Given the description of an element on the screen output the (x, y) to click on. 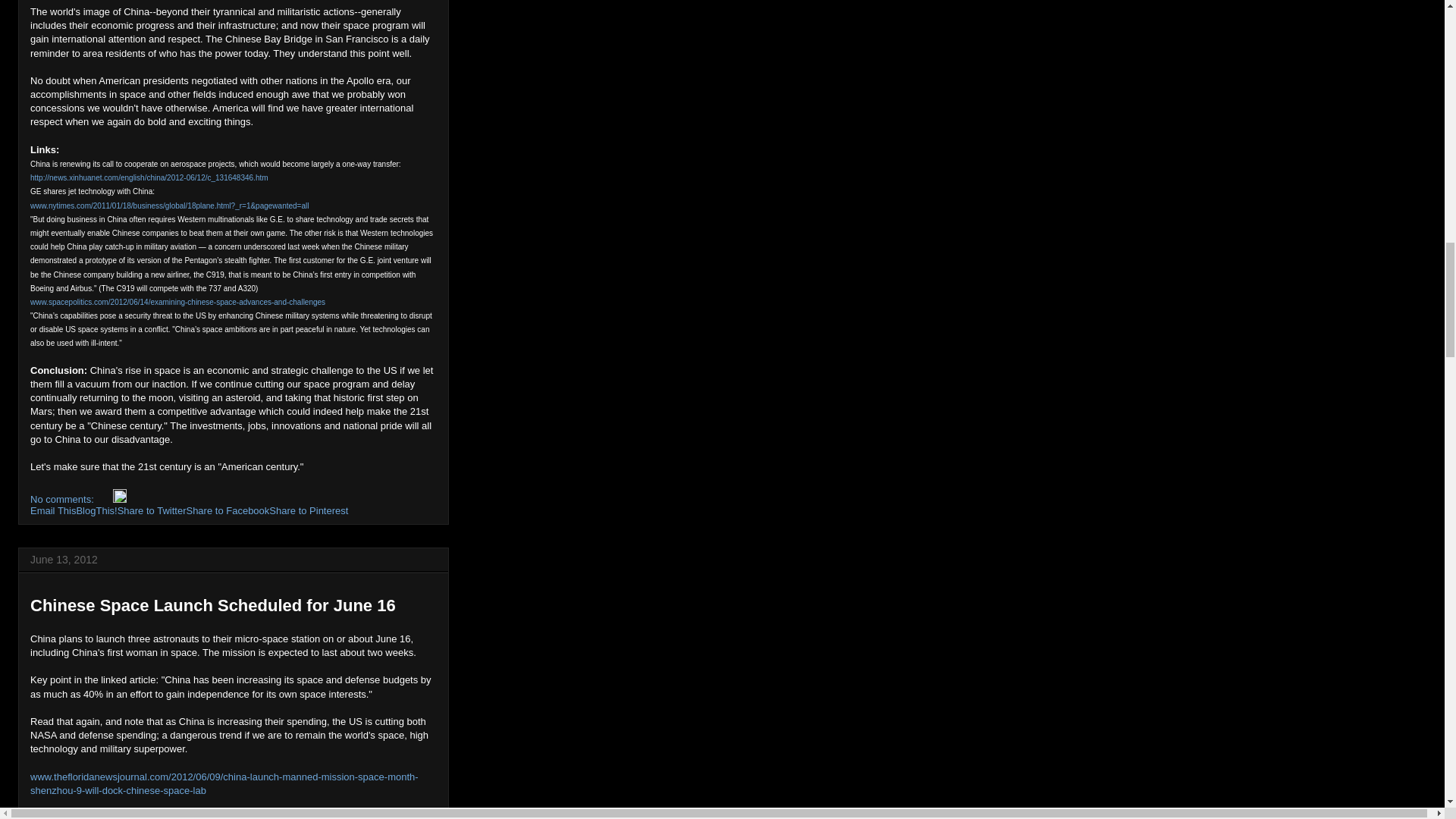
Email This (52, 510)
No comments: (63, 499)
Share to Twitter (151, 510)
Share to Twitter (151, 510)
BlogThis! (95, 510)
Share to Facebook (227, 510)
Share to Facebook (227, 510)
BlogThis! (95, 510)
Share to Pinterest (308, 510)
Edit Post (119, 499)
Email Post (104, 499)
Chinese Space Launch Scheduled for June 16 (213, 605)
Share to Pinterest (308, 510)
Email This (52, 510)
